Given the description of an element on the screen output the (x, y) to click on. 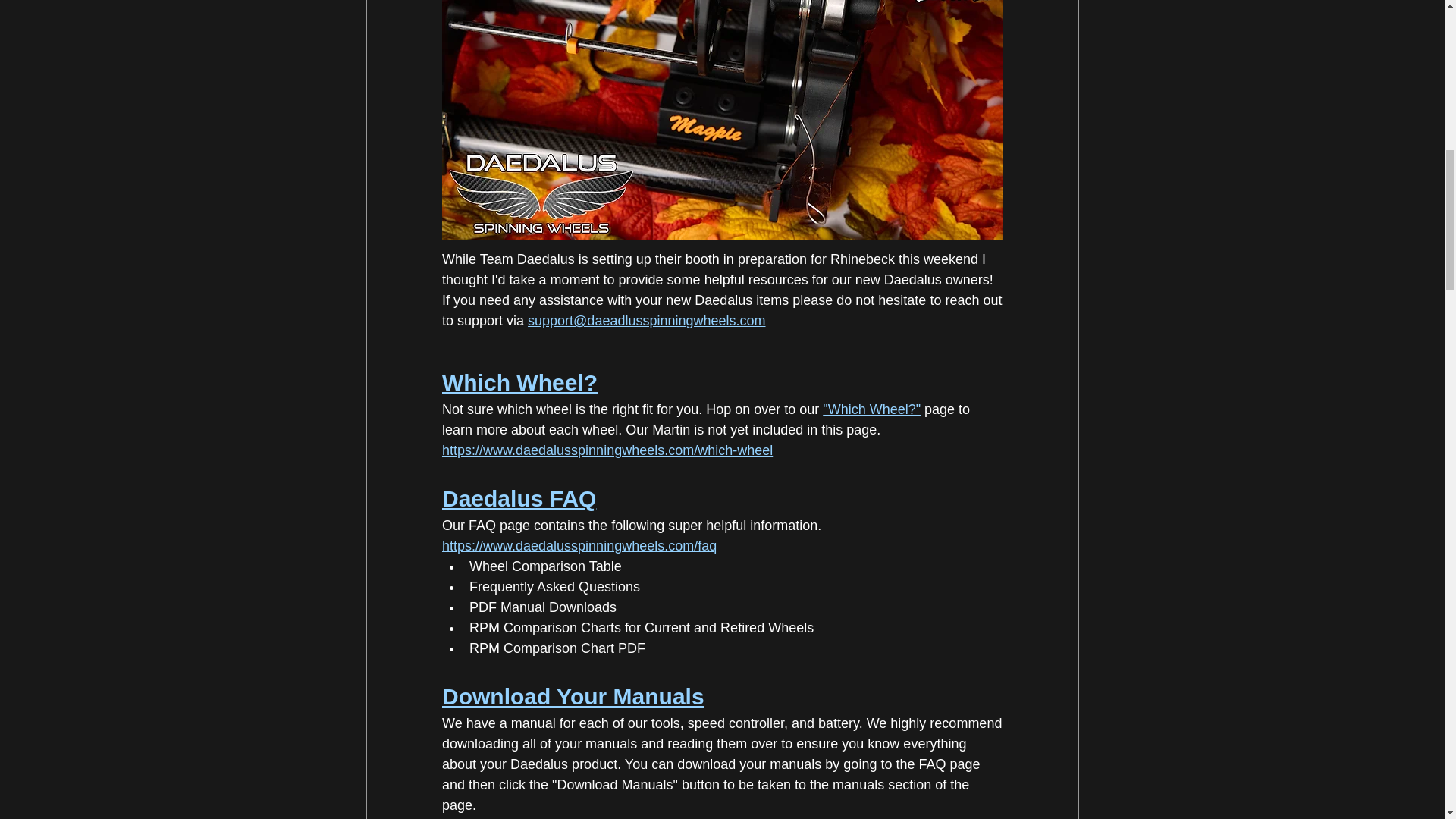
Download Your Manuals (572, 696)
"Which Wheel?" (871, 409)
Which Wheel? (518, 382)
Daedalus FAQ (518, 498)
